Given the description of an element on the screen output the (x, y) to click on. 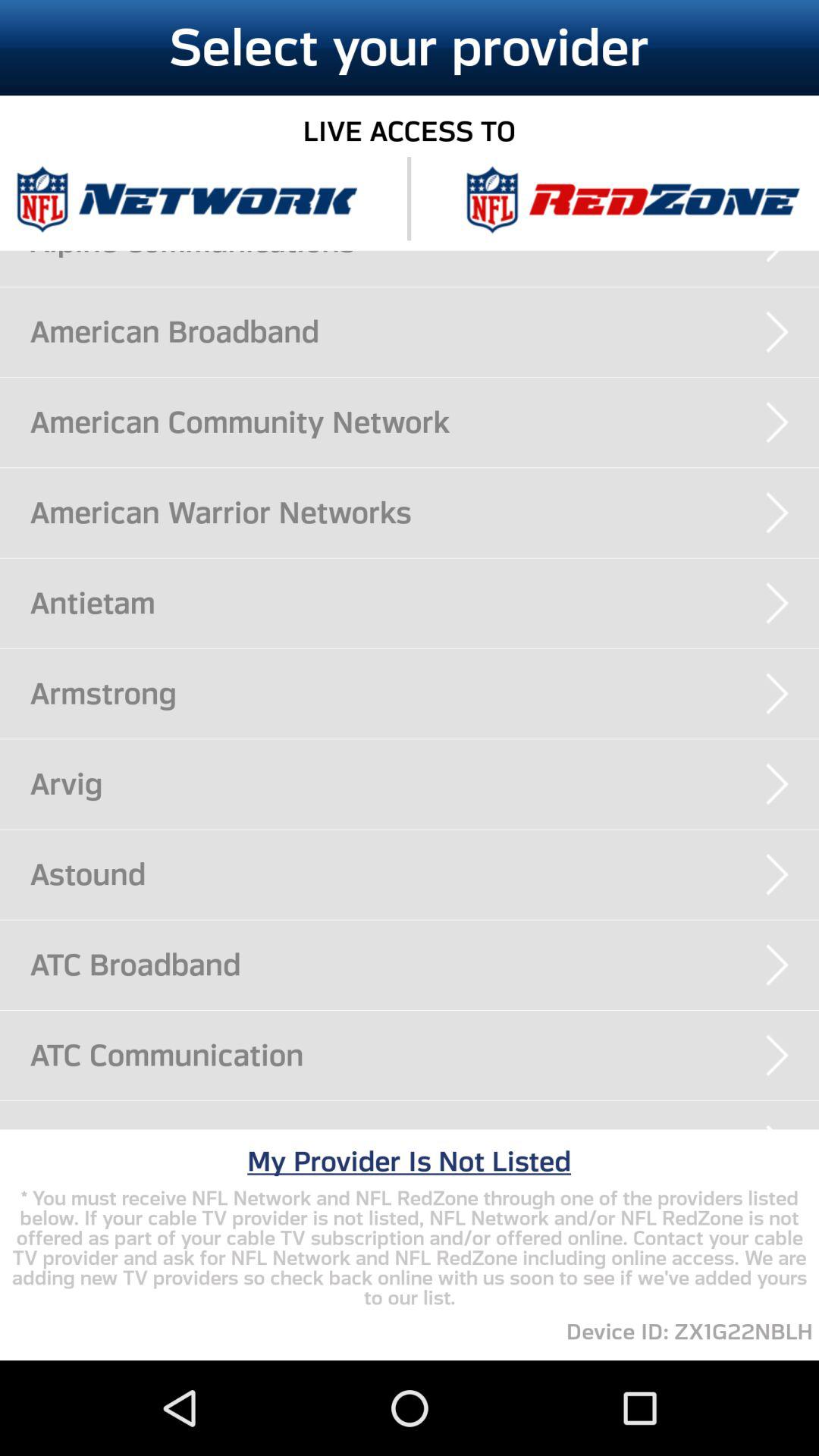
jump until the american broadband (424, 331)
